Given the description of an element on the screen output the (x, y) to click on. 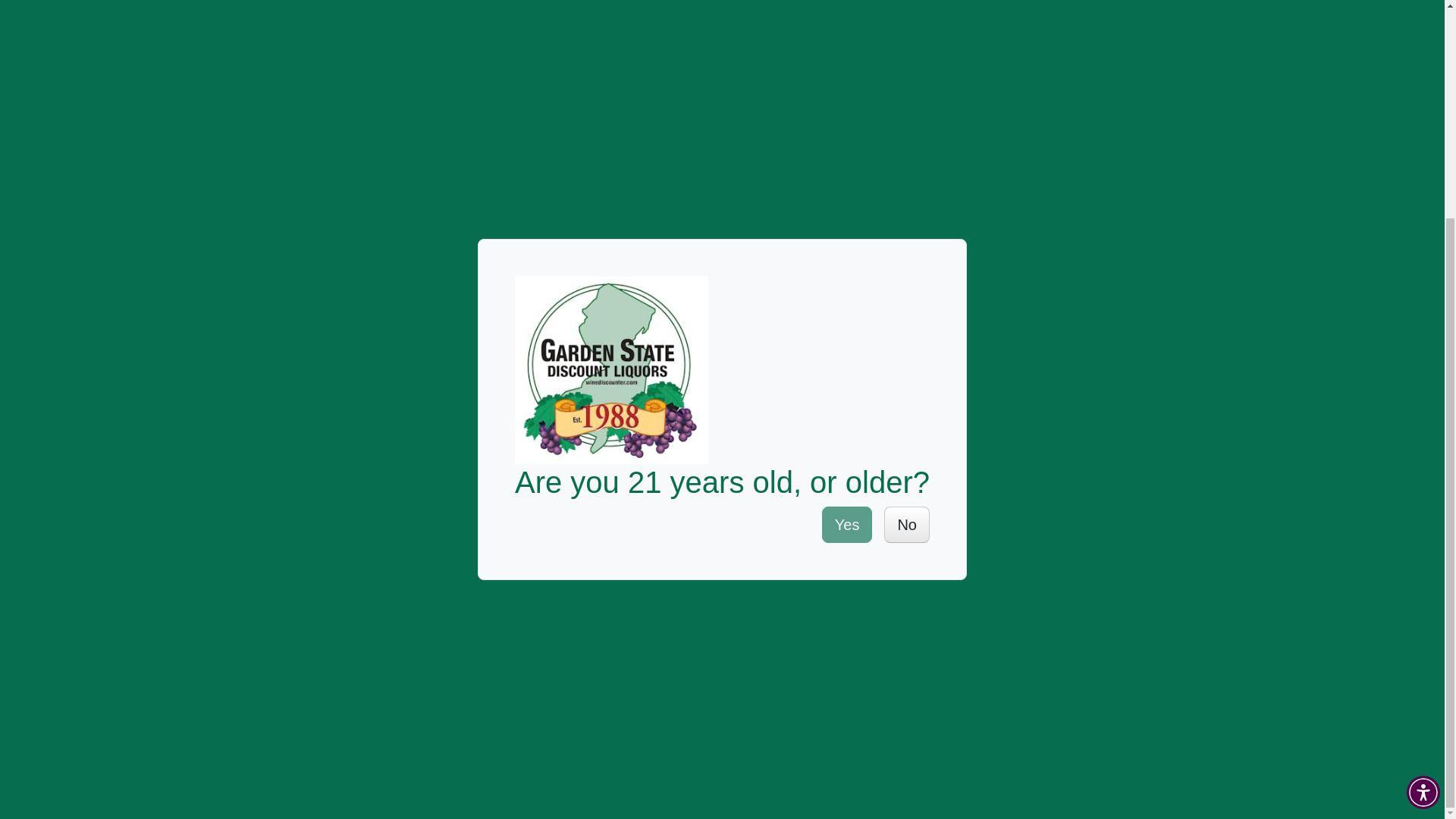
732-442-9536 (471, 698)
PRIVACY POLICY (889, 579)
CONTACT US (1076, 579)
Prepared Cocktails (440, 400)
EMPLOYMENT (591, 579)
Email (1160, 154)
Facebook (1096, 154)
Message (1202, 154)
Print (1181, 154)
Monaco (410, 462)
LOCATION (425, 579)
Pinterest (1139, 154)
ABOUT US (271, 579)
FAQ (735, 579)
Twitter (1117, 154)
